Given the description of an element on the screen output the (x, y) to click on. 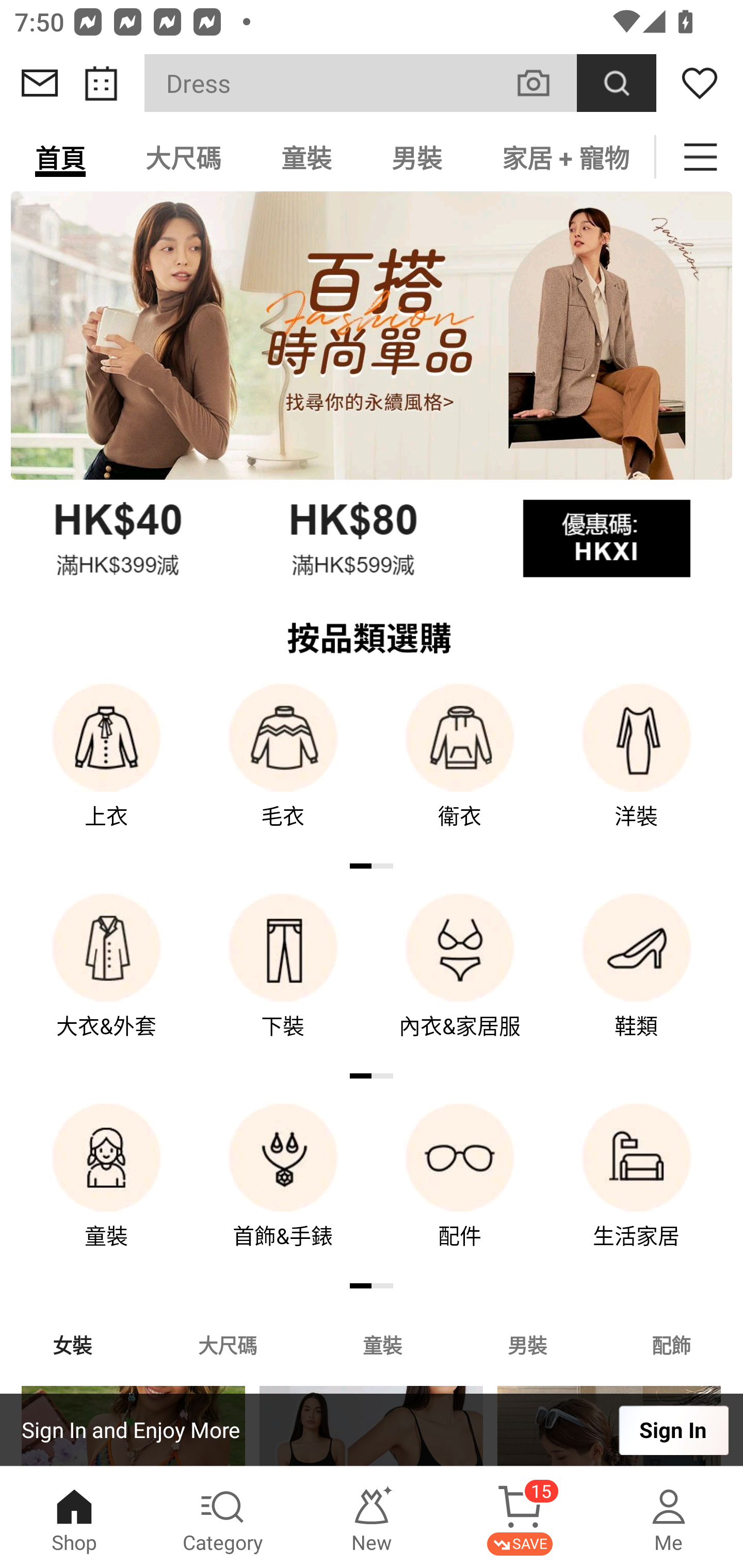
Wishlist (699, 82)
VISUAL SEARCH (543, 82)
首頁 (60, 156)
大尺碼 (183, 156)
童裝 (306, 156)
男裝 (416, 156)
家居 + 寵物 (563, 156)
上衣 (105, 769)
毛衣 (282, 769)
衛衣 (459, 769)
洋裝 (636, 769)
大衣&外套 (105, 979)
下裝 (282, 979)
內衣&家居服 (459, 979)
鞋類 (636, 979)
童裝 (105, 1189)
首飾&手錶 (282, 1189)
配件 (459, 1189)
生活家居 (636, 1189)
女裝 (72, 1344)
大尺碼 (226, 1344)
童裝 (381, 1344)
男裝 (527, 1344)
配飾 (671, 1344)
Sign In and Enjoy More Sign In (371, 1429)
Category (222, 1517)
New (371, 1517)
Cart 15 SAVE (519, 1517)
Me (668, 1517)
